Given the description of an element on the screen output the (x, y) to click on. 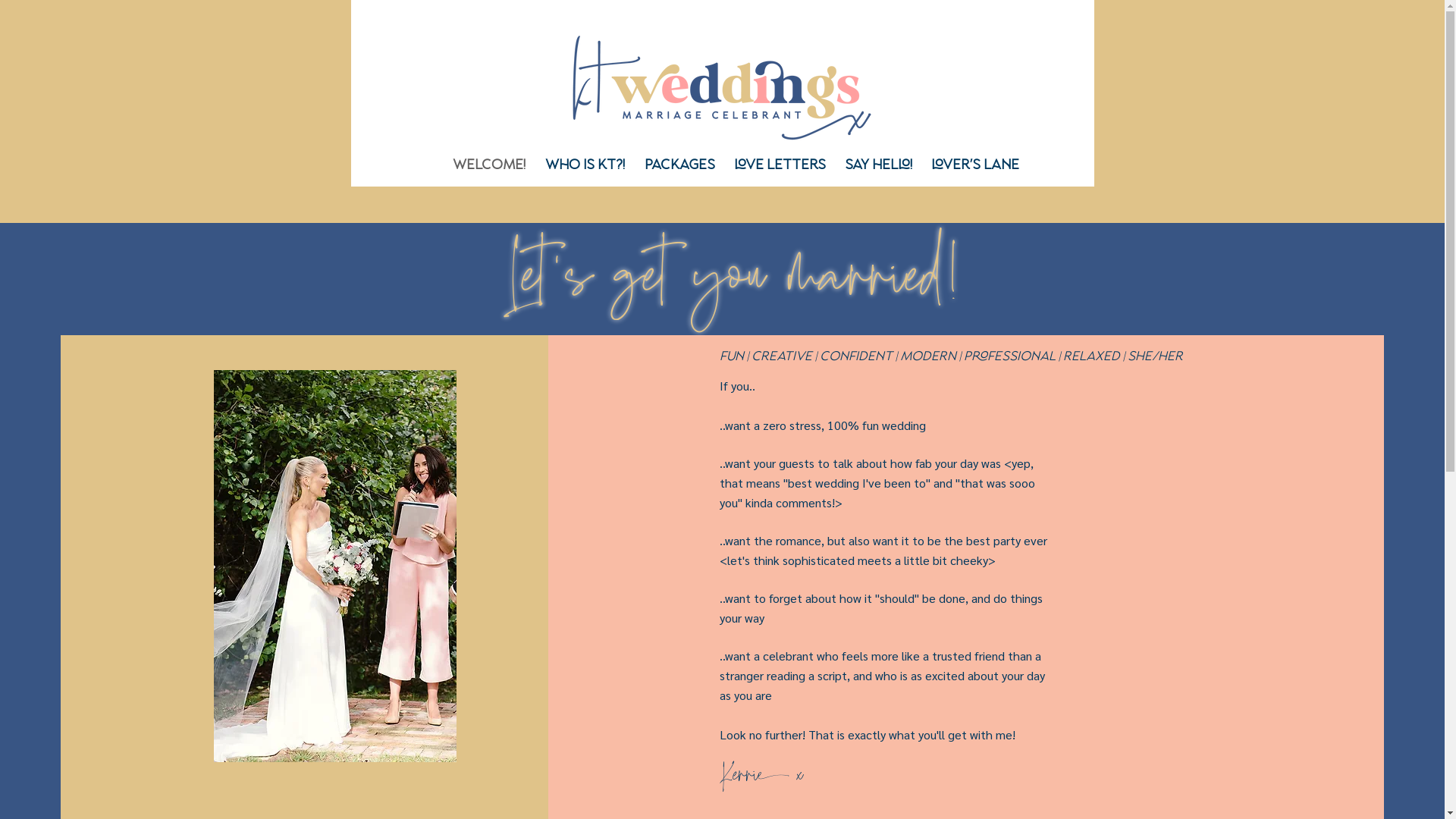
lover's lane Element type: text (975, 166)
packages Element type: text (678, 166)
web-large_Website header 2.png Element type: hover (721, 87)
say hello! Element type: text (878, 166)
welcome! Element type: text (488, 166)
love letters Element type: text (779, 166)
who is kt?! Element type: text (584, 166)
